Given the description of an element on the screen output the (x, y) to click on. 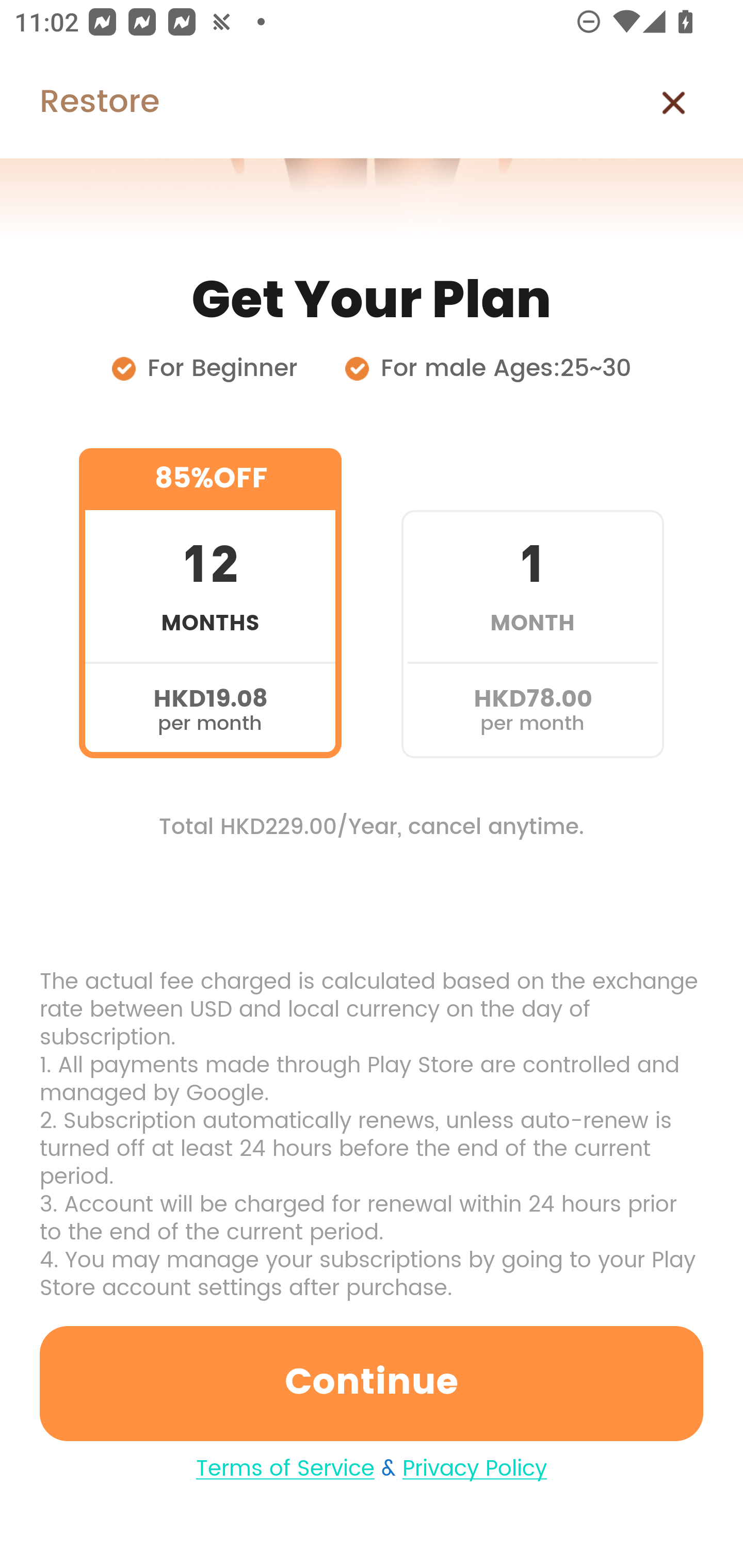
Restore (79, 102)
85%OFF 12 MONTHS per month HKD19.08 (209, 603)
1 MONTH per month HKD78.00 (532, 603)
Continue (371, 1383)
